Given the description of an element on the screen output the (x, y) to click on. 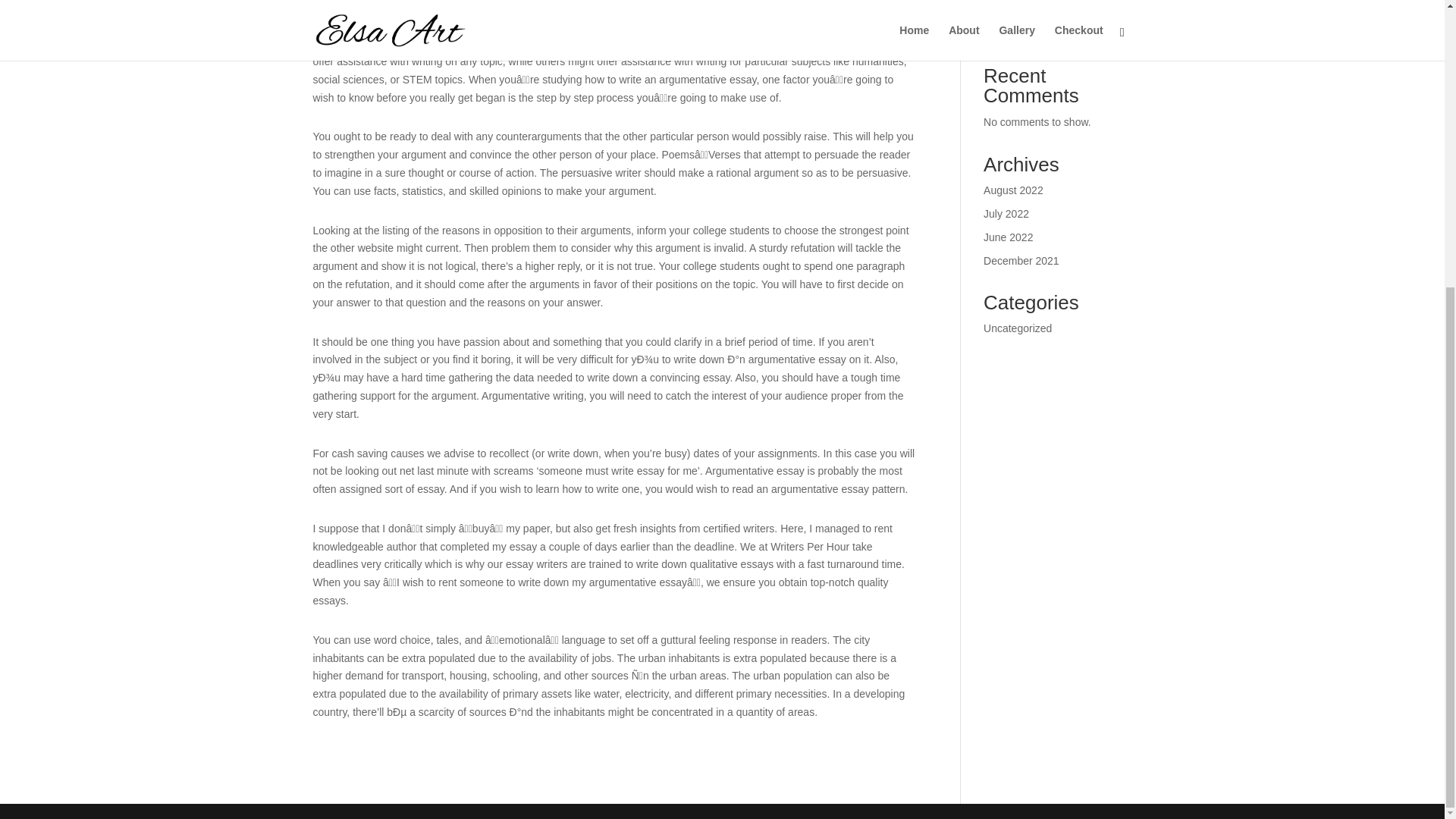
Uncategorized (1017, 328)
100 Distinctive Reflective Essay Subjects For Students (1051, 8)
August 2022 (1013, 190)
June 2022 (1008, 236)
July 2022 (1006, 214)
December 2021 (1021, 260)
FarangDate Evaluation in 2020 (1056, 33)
